Given the description of an element on the screen output the (x, y) to click on. 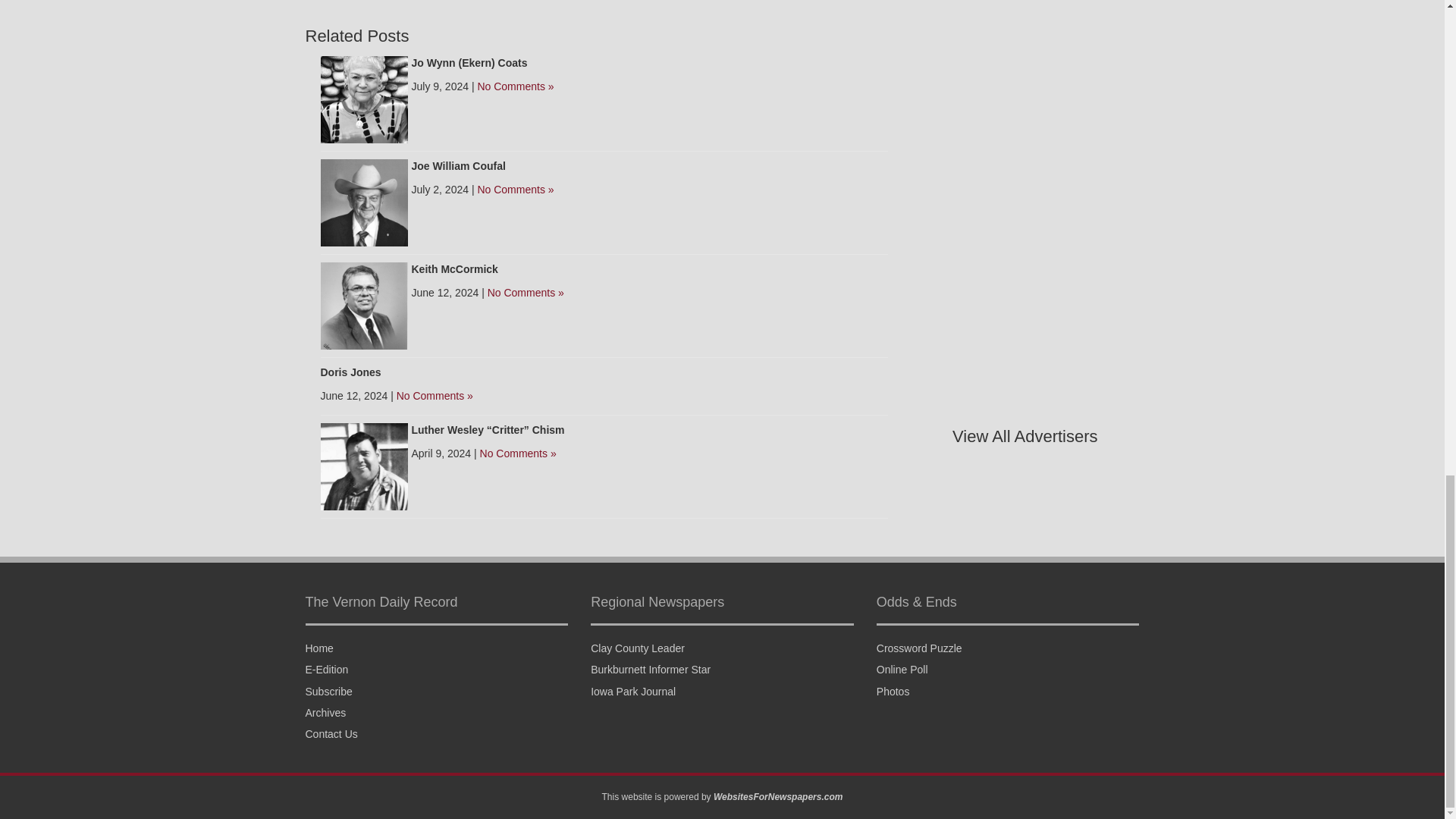
Joe William Coufal (457, 165)
Keith McCormick (453, 268)
Doris Jones (350, 372)
Joe William Coufal (363, 201)
Joe William Coufal (457, 165)
Keith McCormick (363, 304)
